Given the description of an element on the screen output the (x, y) to click on. 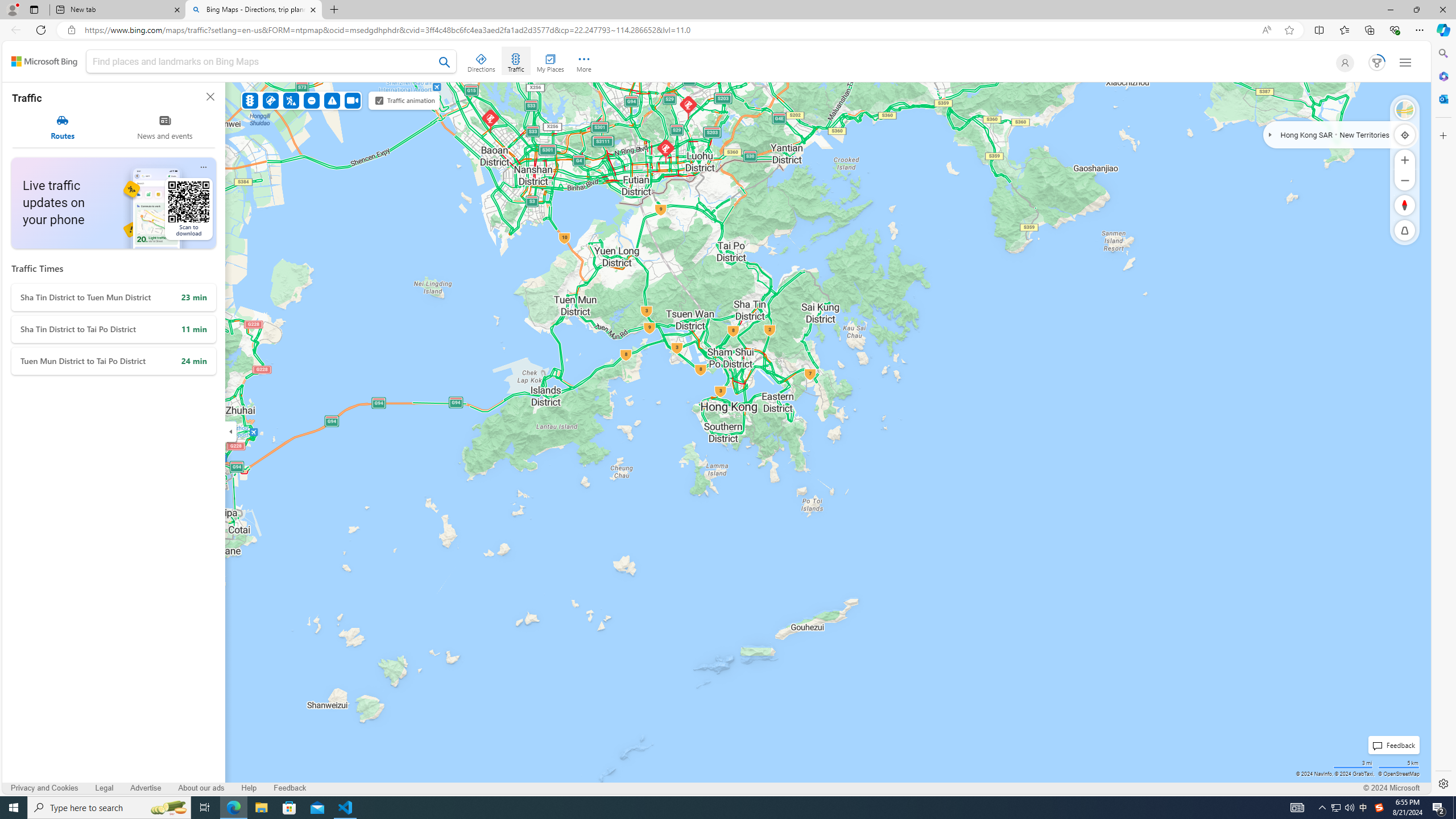
Search Bing Maps (444, 61)
About our ads (200, 787)
Settings and quick links (1404, 62)
More (583, 60)
Miscellaneous incidents (332, 100)
Streetside (1404, 109)
